Given the description of an element on the screen output the (x, y) to click on. 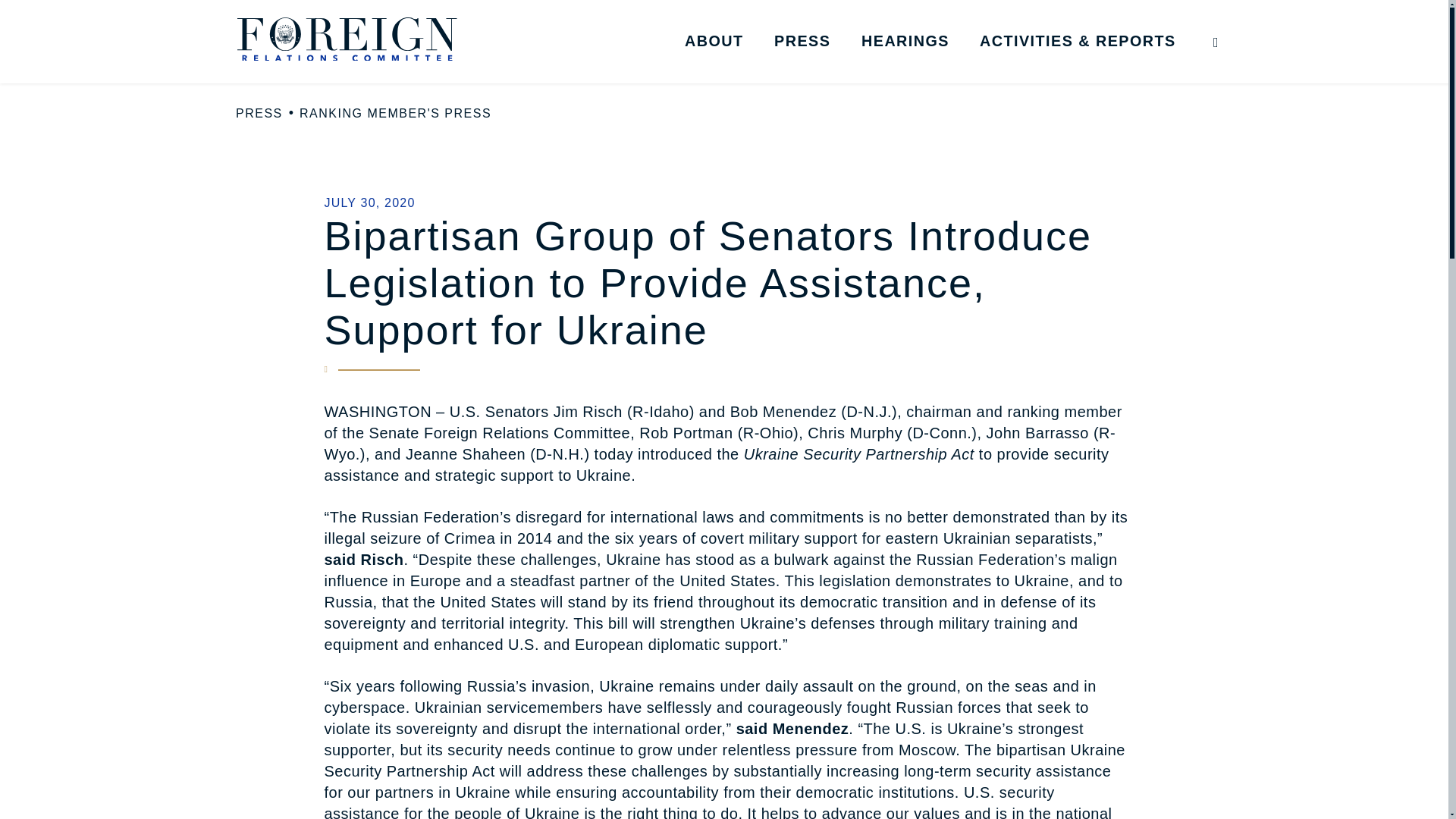
Chairman's Press (887, 68)
ABOUT (714, 41)
Skip to content (26, 26)
Membership (798, 68)
RANKING MEMBER'S PRESS (395, 113)
PRESS (259, 113)
PRESS (801, 41)
HEARINGS (905, 41)
Nominations (1093, 68)
